Given the description of an element on the screen output the (x, y) to click on. 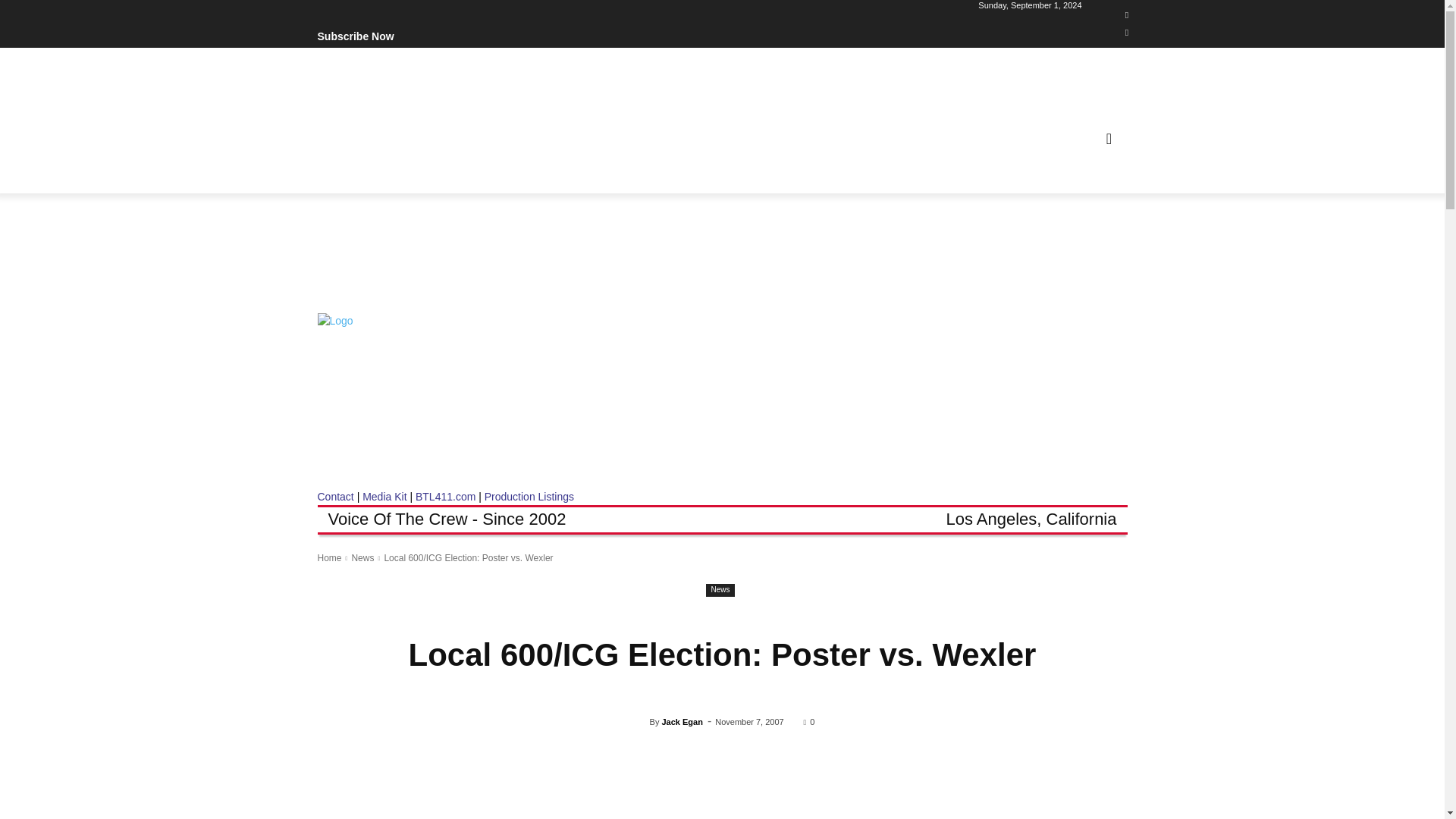
Facebook (1126, 15)
View all posts in News (362, 557)
Jack Egan (639, 721)
Twitter (1126, 32)
